Given the description of an element on the screen output the (x, y) to click on. 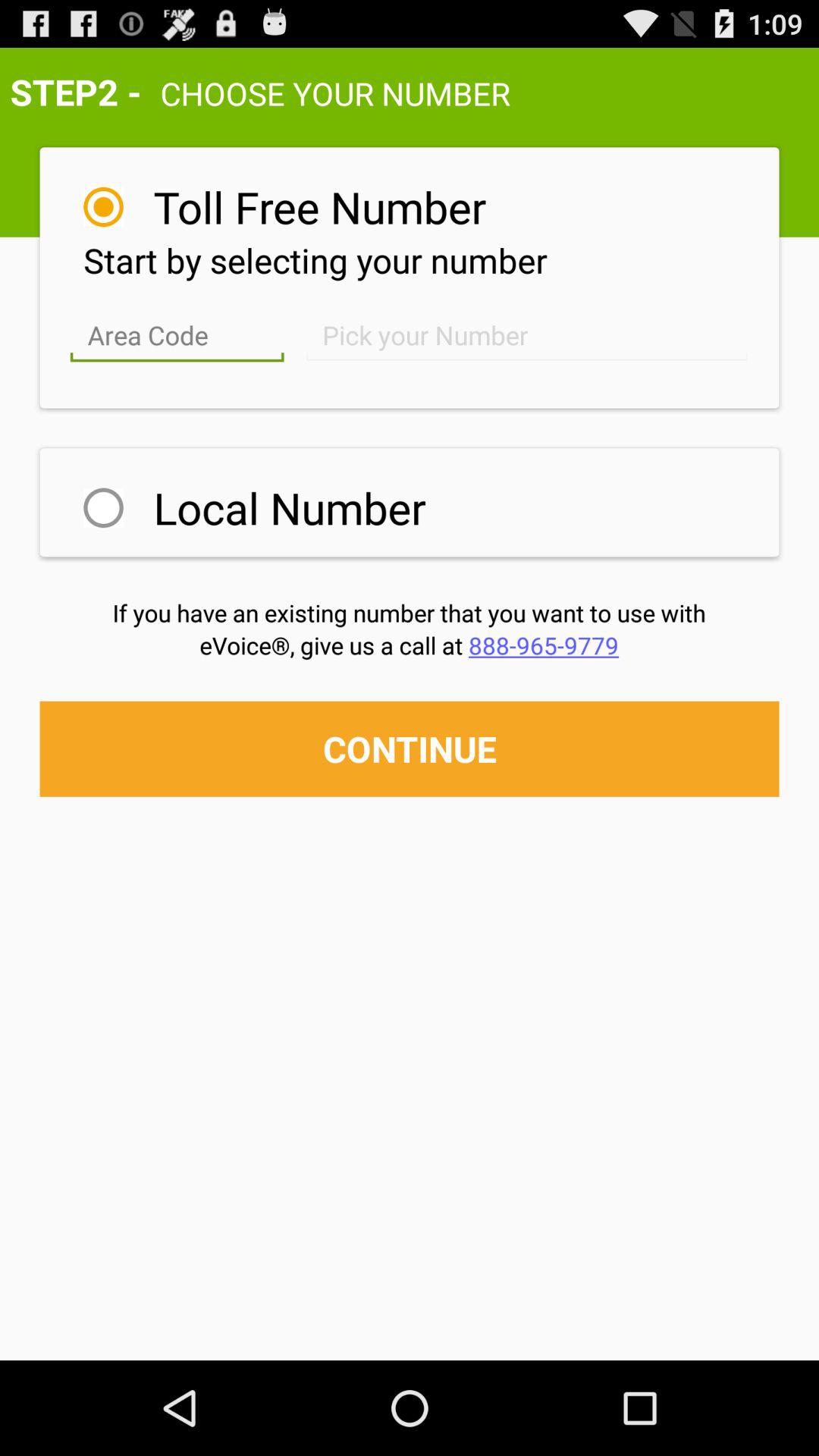
select evoice give us app (408, 645)
